Given the description of an element on the screen output the (x, y) to click on. 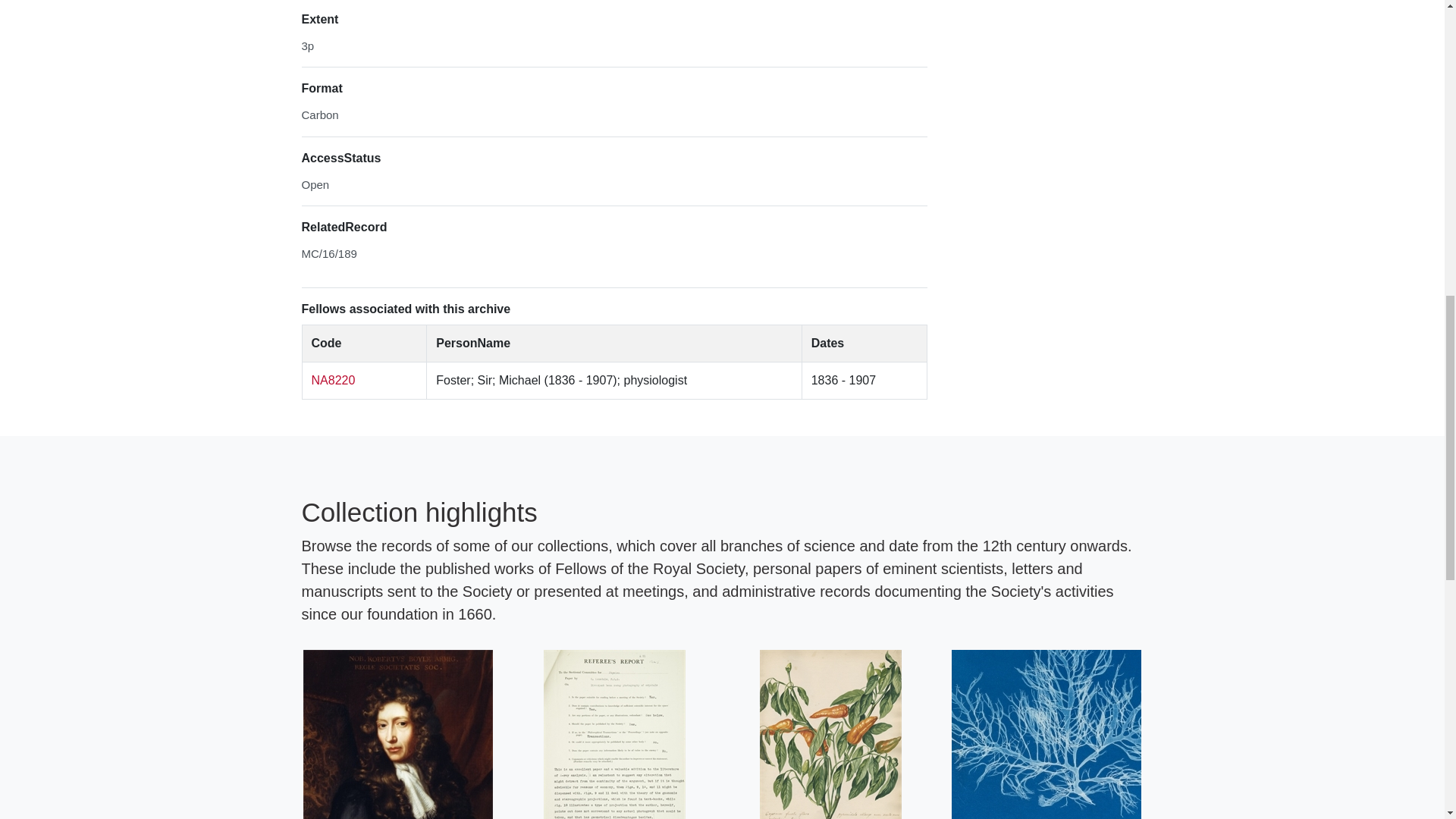
Show related Persons records. (333, 379)
NA8220 (333, 379)
Photographs of British algae: cyanotype impressions (1045, 734)
Papers of Robert Boyle (398, 734)
